Given the description of an element on the screen output the (x, y) to click on. 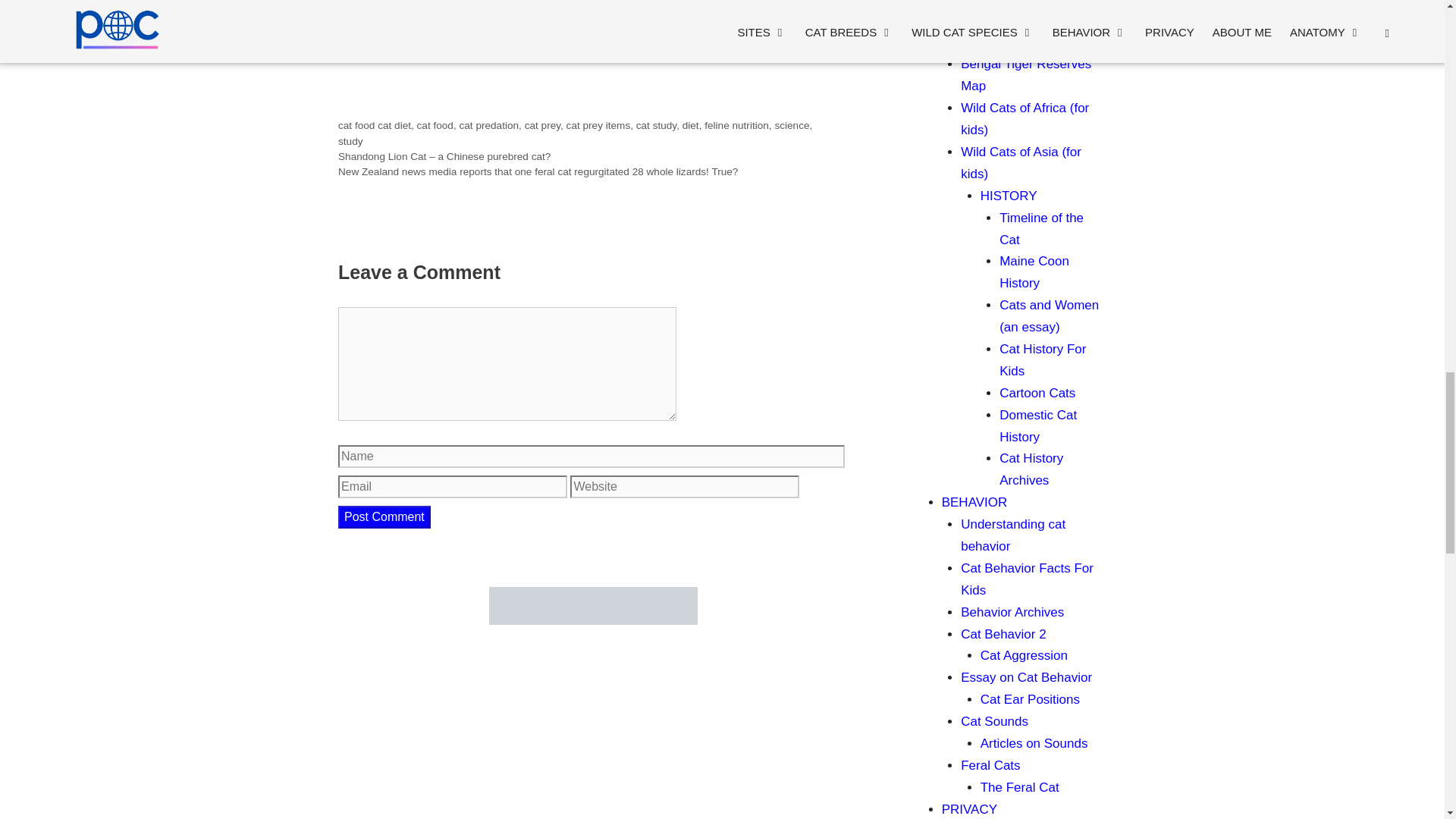
Post Comment (383, 517)
